Given the description of an element on the screen output the (x, y) to click on. 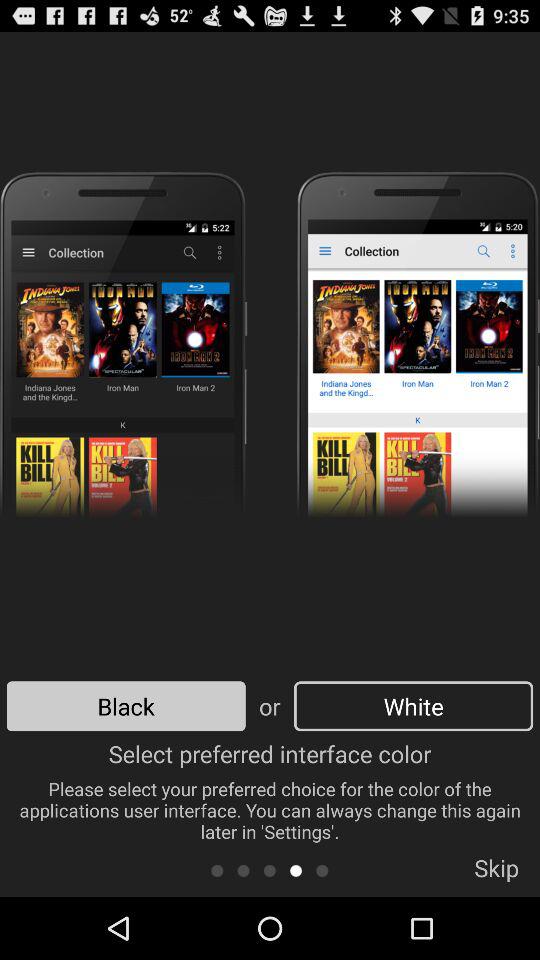
turn on icon to the right of the or (413, 706)
